Given the description of an element on the screen output the (x, y) to click on. 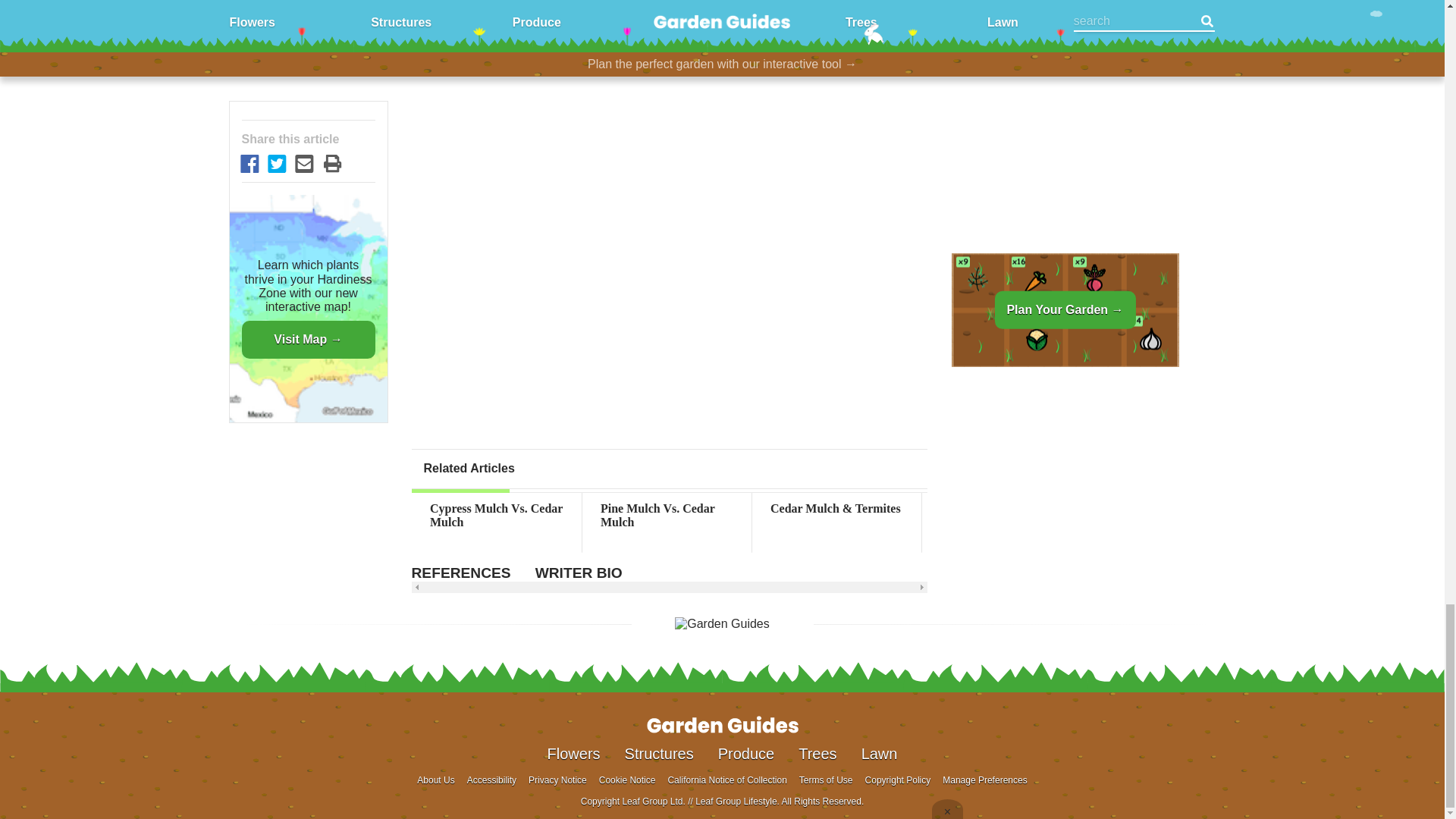
Pine Vs. Cedar Mulch (1346, 508)
How to Keep Mulch in Place (1005, 515)
Cypress Mulch Vs. Cedar Mulch (495, 515)
Pine Mulch Vs. Cedar Mulch (666, 515)
